Given the description of an element on the screen output the (x, y) to click on. 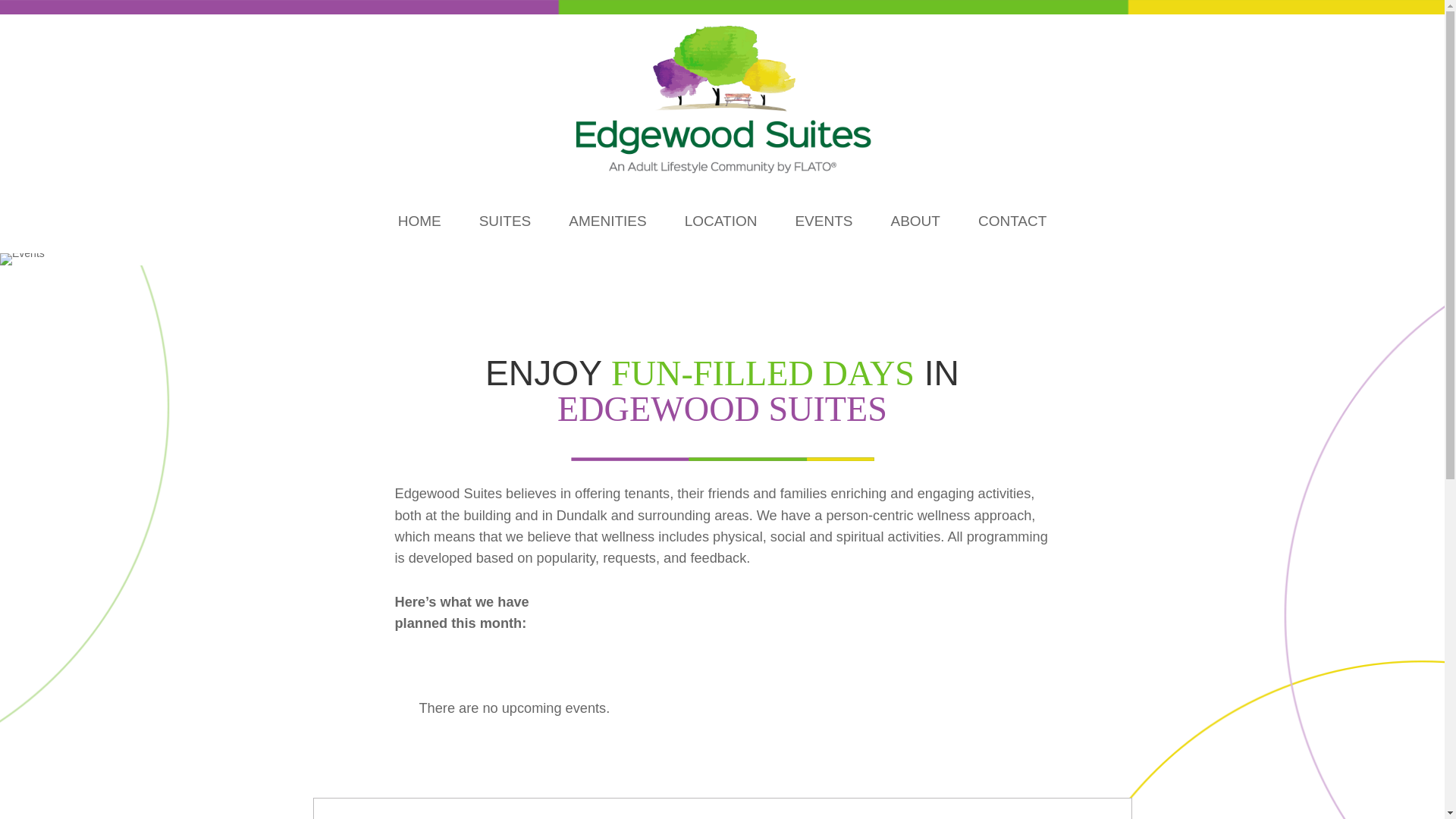
colour-bar-sm (721, 459)
AMENITIES (606, 220)
SUITES (504, 220)
EVENTS (823, 220)
LOCATION (721, 220)
CONTACT (1012, 220)
hiking (22, 259)
ABOUT (914, 220)
HOME (419, 220)
